Given the description of an element on the screen output the (x, y) to click on. 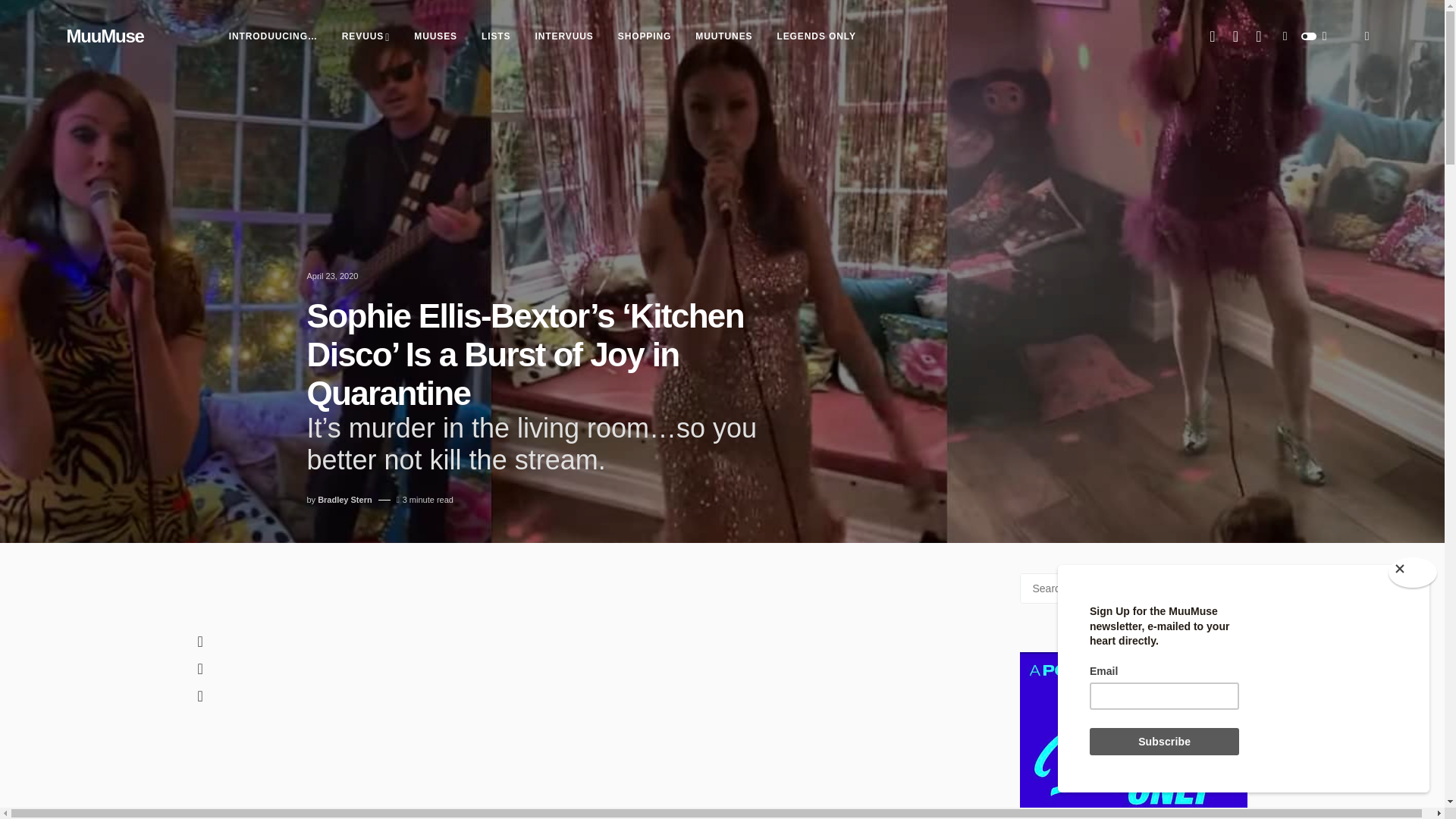
LEGENDS ONLY (816, 36)
View all posts by Bradley Stern (344, 499)
MuuMuse (105, 35)
